Given the description of an element on the screen output the (x, y) to click on. 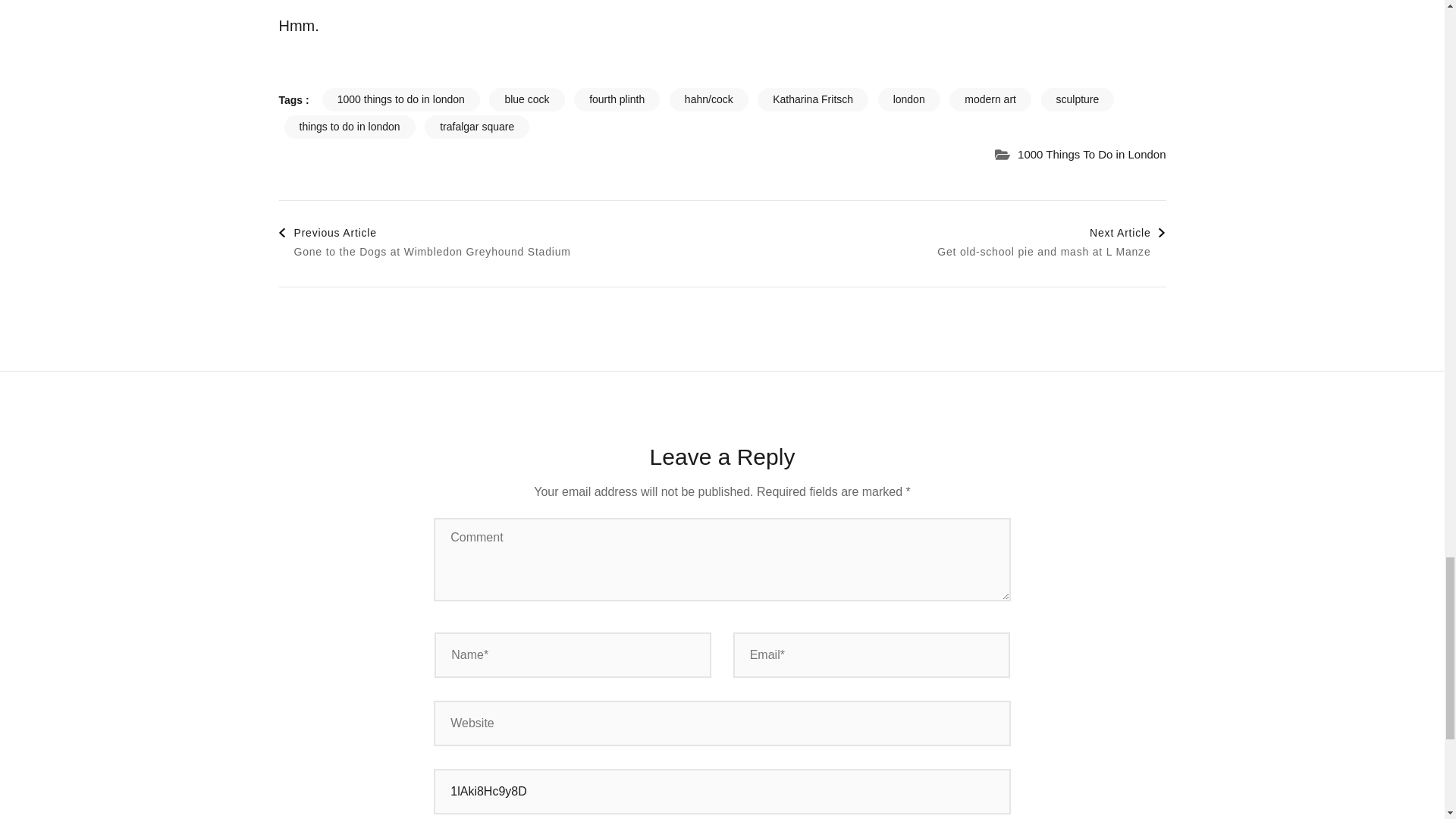
Katharina Fritsch (812, 99)
sculpture (1078, 99)
1000 Things To Do in London (1091, 154)
1000 things to do in london (400, 99)
modern art (989, 99)
trafalgar square (477, 126)
fourth plinth (616, 99)
london (908, 99)
things to do in london (348, 126)
